Given the description of an element on the screen output the (x, y) to click on. 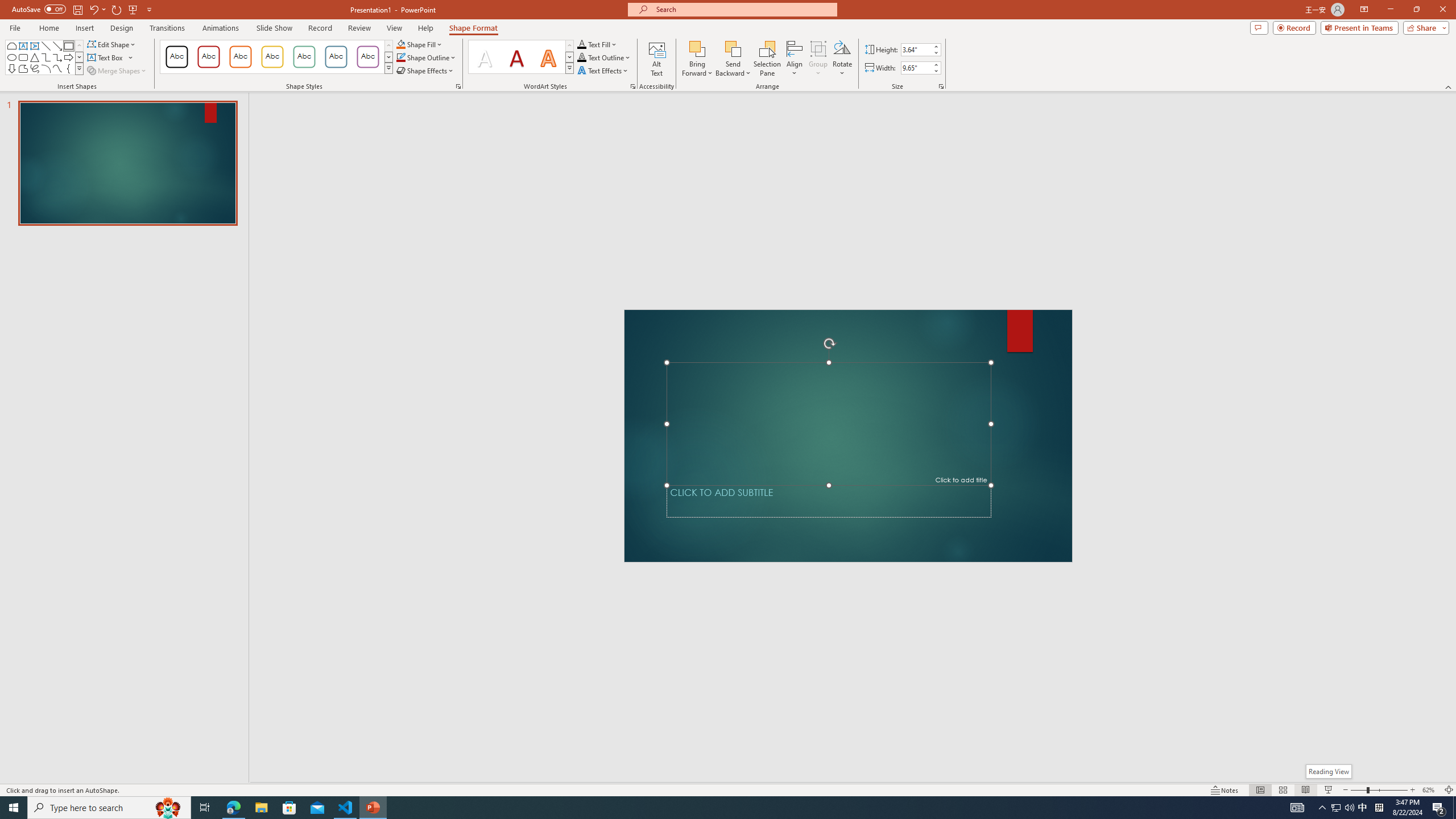
AutomationID: ShapesInsertGallery (44, 57)
Shape Fill Orange, Accent 2 (400, 44)
Oval (11, 57)
Shape Outline (426, 56)
AutomationID: ShapeStylesGallery (276, 56)
Less (935, 70)
Arrow: Right (68, 57)
Line (46, 45)
Microsoft search (742, 9)
